Given the description of an element on the screen output the (x, y) to click on. 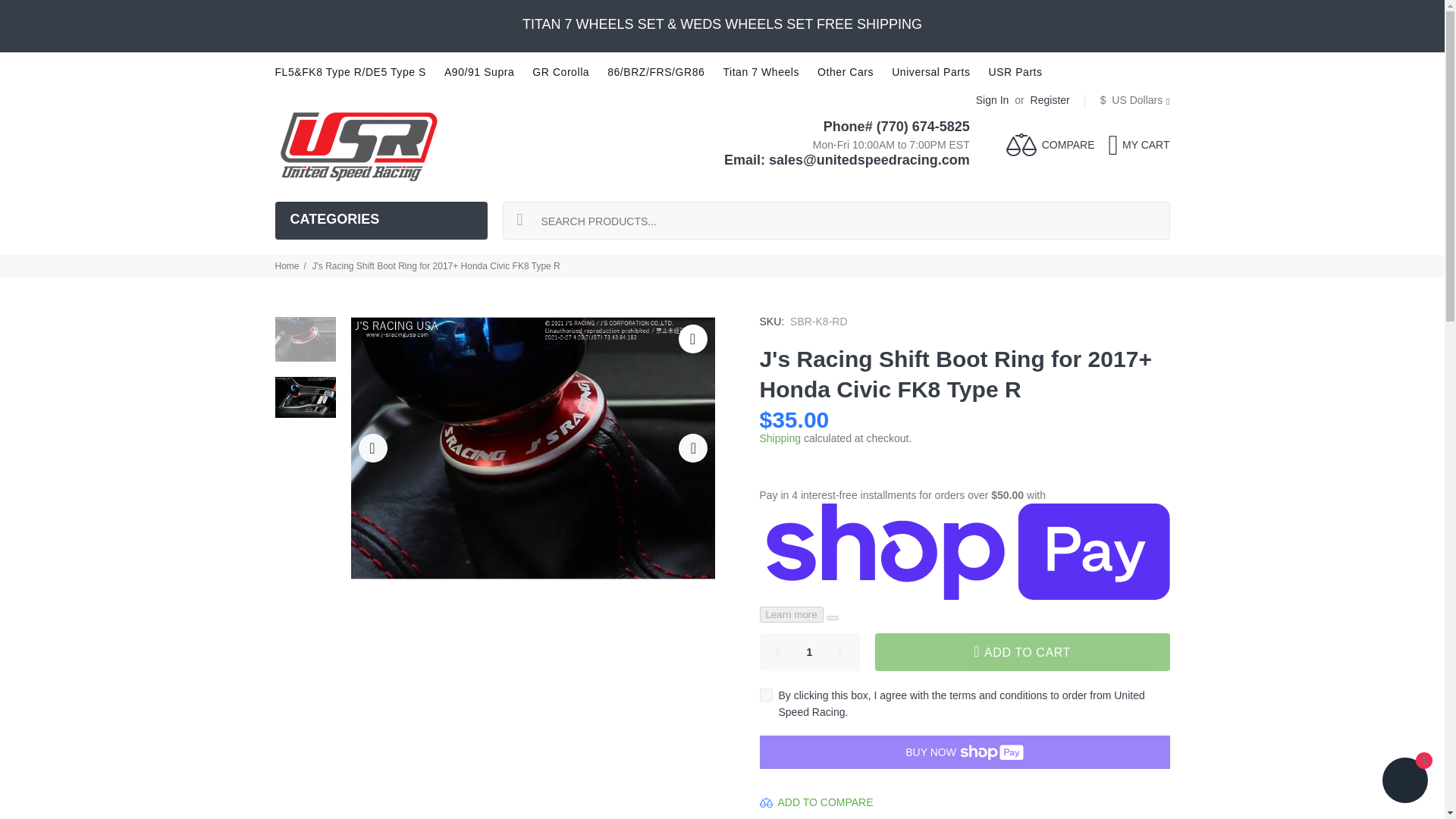
1 (810, 651)
Shopify online store chat (1404, 781)
